Given the description of an element on the screen output the (x, y) to click on. 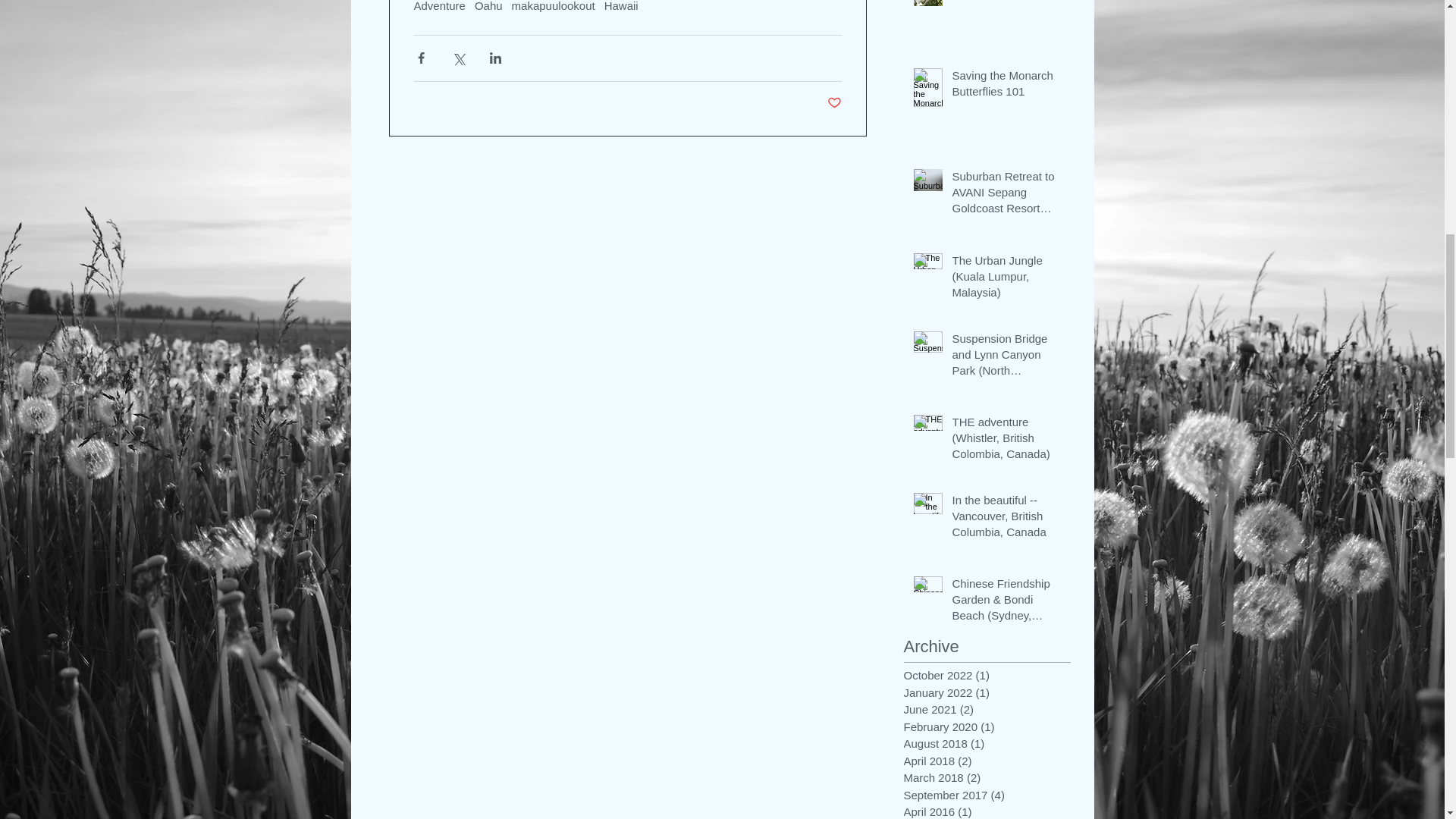
Adventure (439, 5)
Hawaii (621, 5)
Post not marked as liked (834, 103)
makapuulookout (553, 5)
Saving the Monarch Butterflies 101 (1006, 86)
Oahu (488, 5)
In the beautiful -- Vancouver, British Columbia, Canada (1006, 519)
Is my butterfly a Male or Female? (1006, 2)
